Given the description of an element on the screen output the (x, y) to click on. 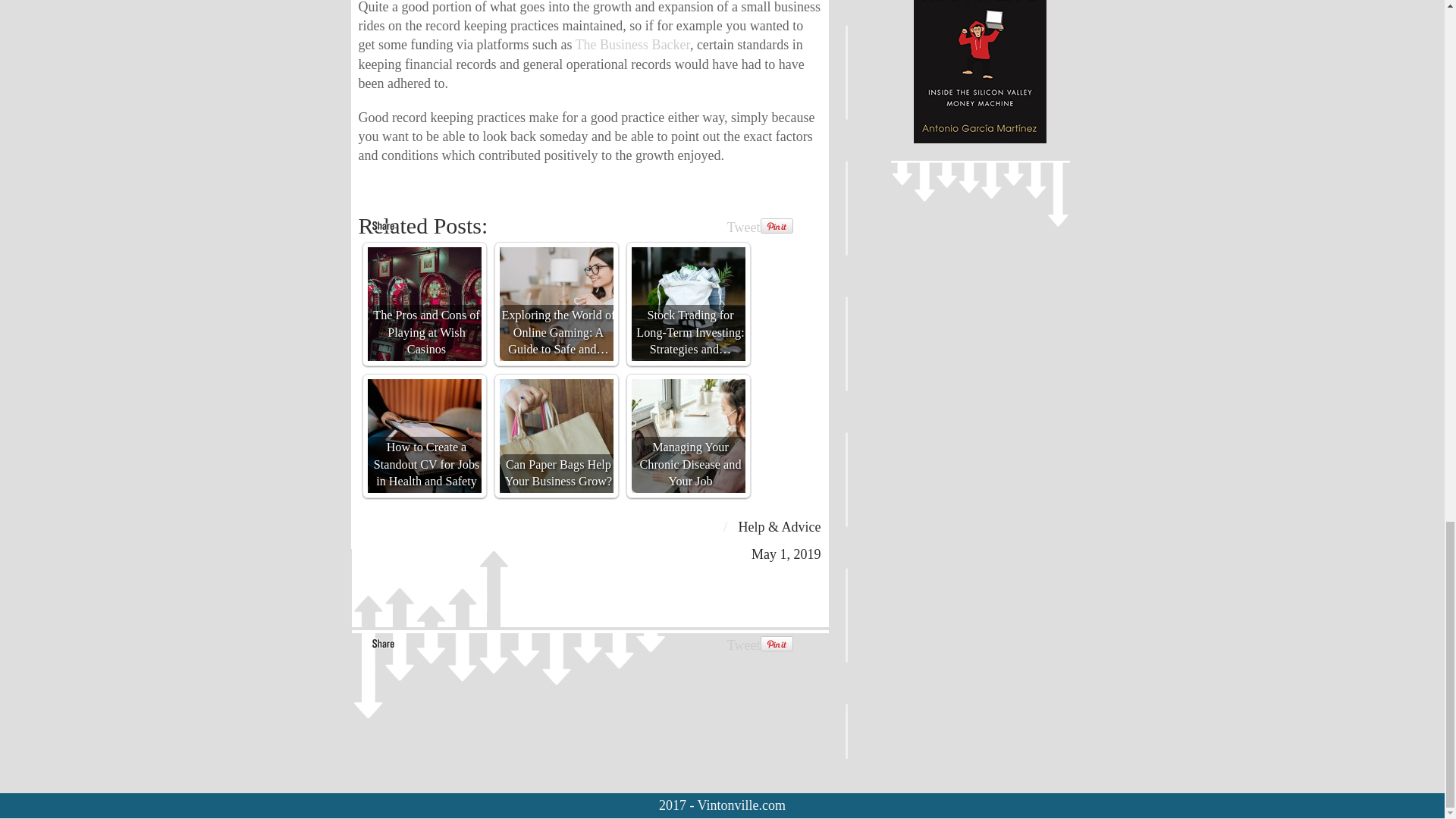
Tweet (743, 227)
Pin It (776, 643)
Tweet (743, 645)
How to Create a Standout CV for Jobs in Health and Safety (423, 436)
The Pros and Cons of Playing at Wish Casinos (423, 304)
How to Create a Standout CV for Jobs in Health and Safety (423, 436)
Managing Your Chronic Disease and Your Job (687, 436)
The Business Backer (632, 44)
